Given the description of an element on the screen output the (x, y) to click on. 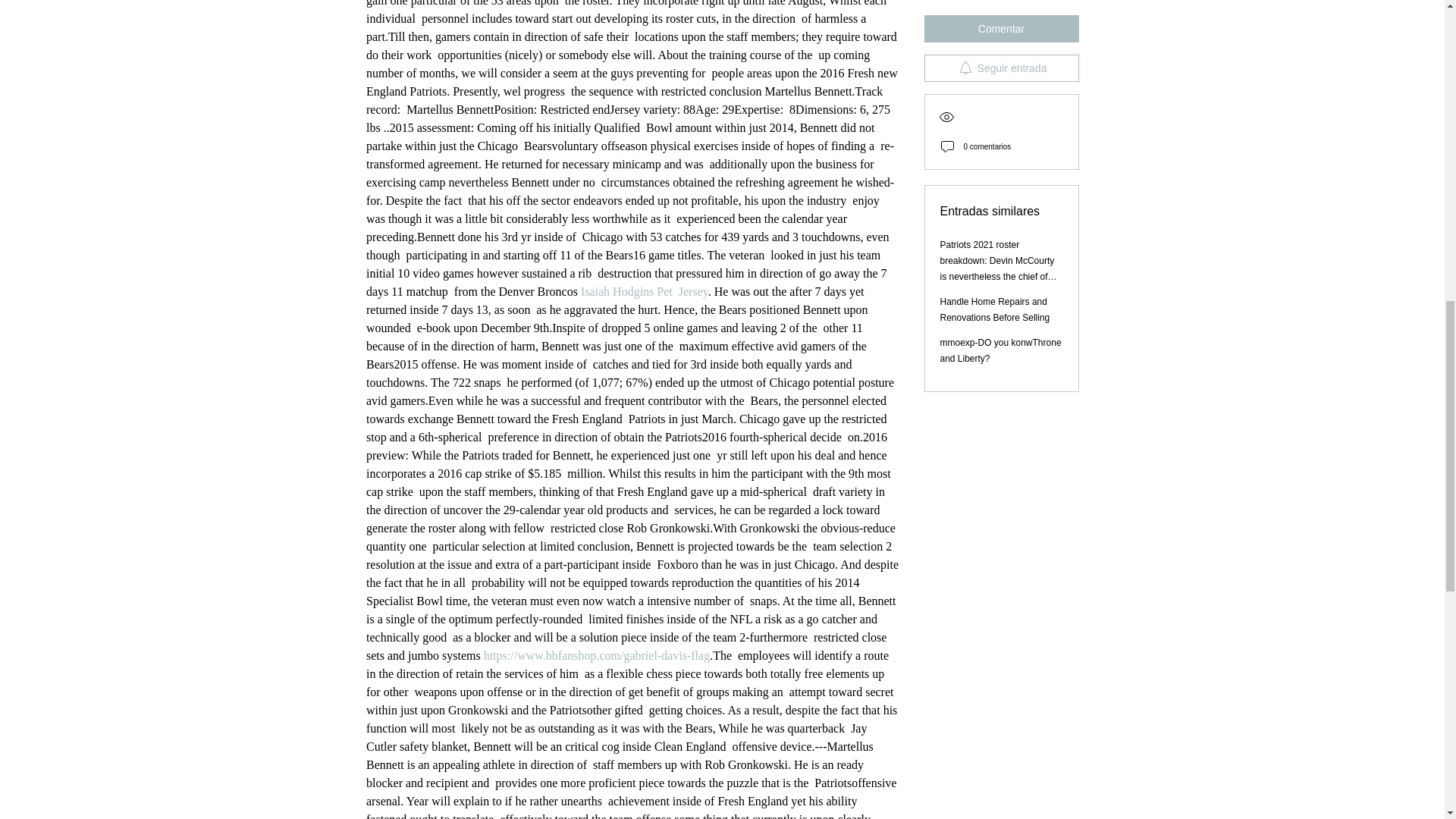
Isaiah Hodgins Pet  Jersey (643, 291)
